Given the description of an element on the screen output the (x, y) to click on. 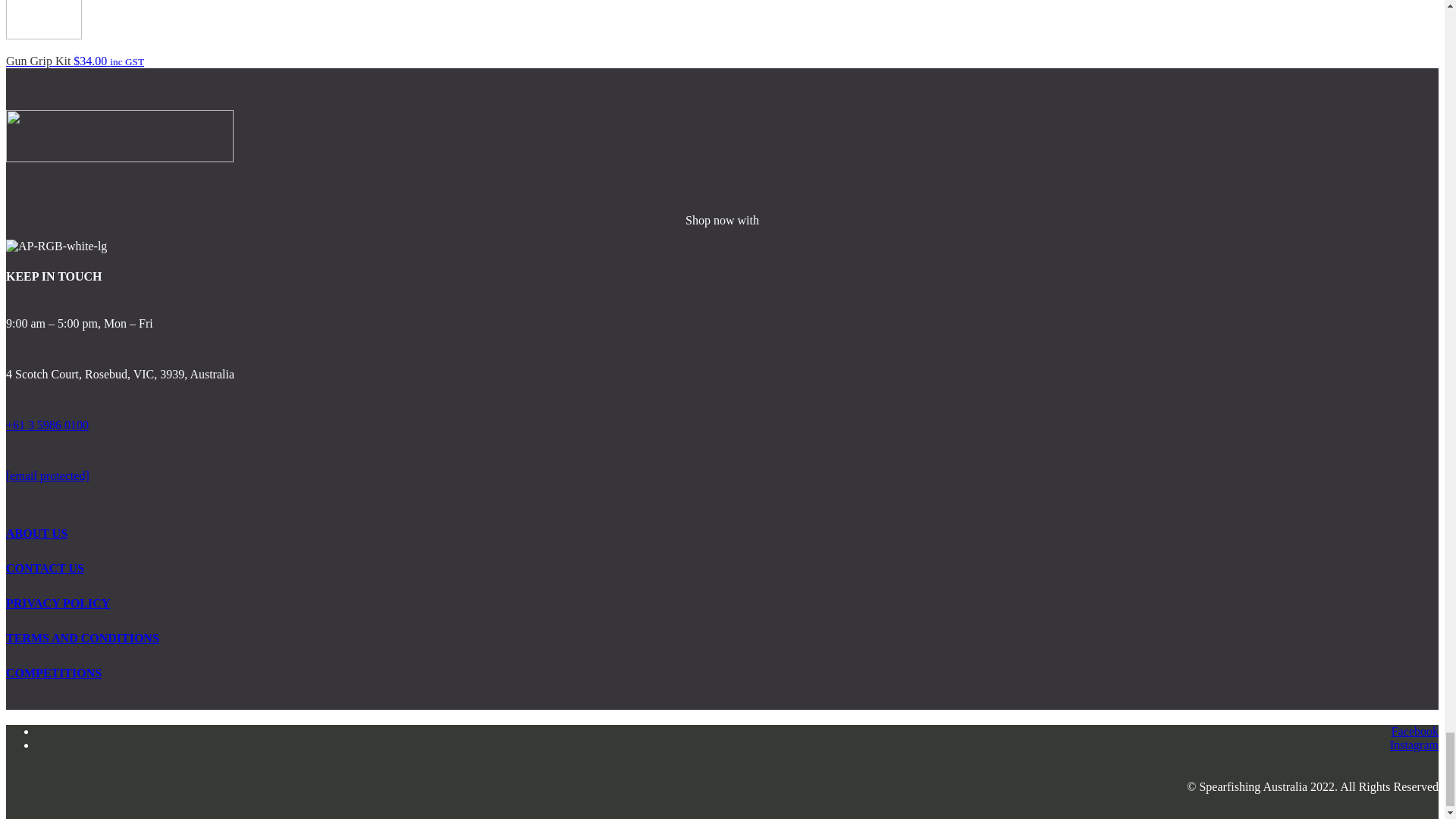
Privacy Policy (57, 603)
AP-RGB-white-lg (55, 246)
About Us (35, 533)
Contact Us (44, 567)
Terms and Conditions (81, 637)
